Given the description of an element on the screen output the (x, y) to click on. 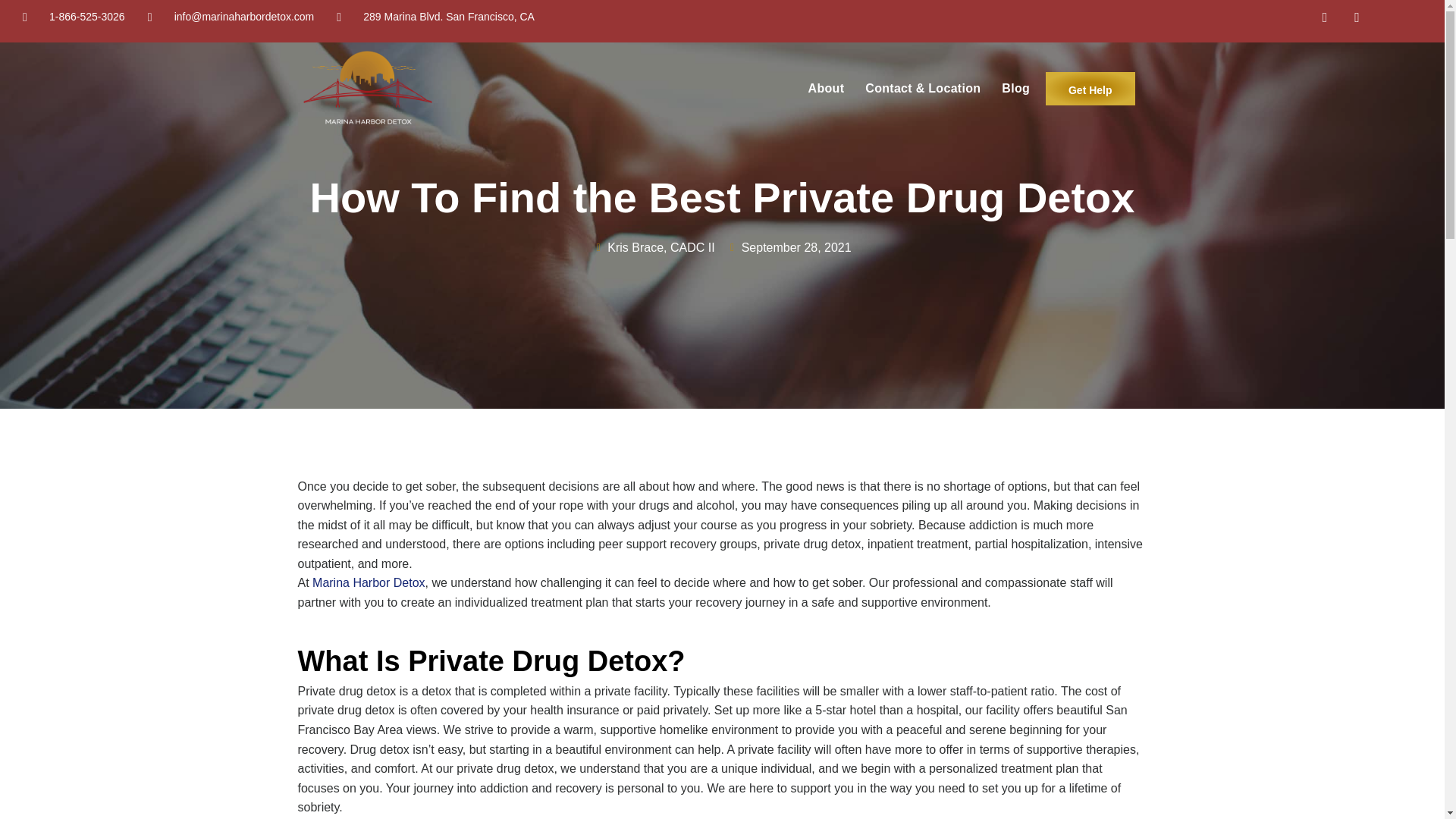
Marina Harbor Detox (369, 582)
1-866-525-3026 (74, 17)
Get Help (1090, 88)
September 28, 2021 (788, 247)
Kris Brace, CADC II (653, 247)
